Given the description of an element on the screen output the (x, y) to click on. 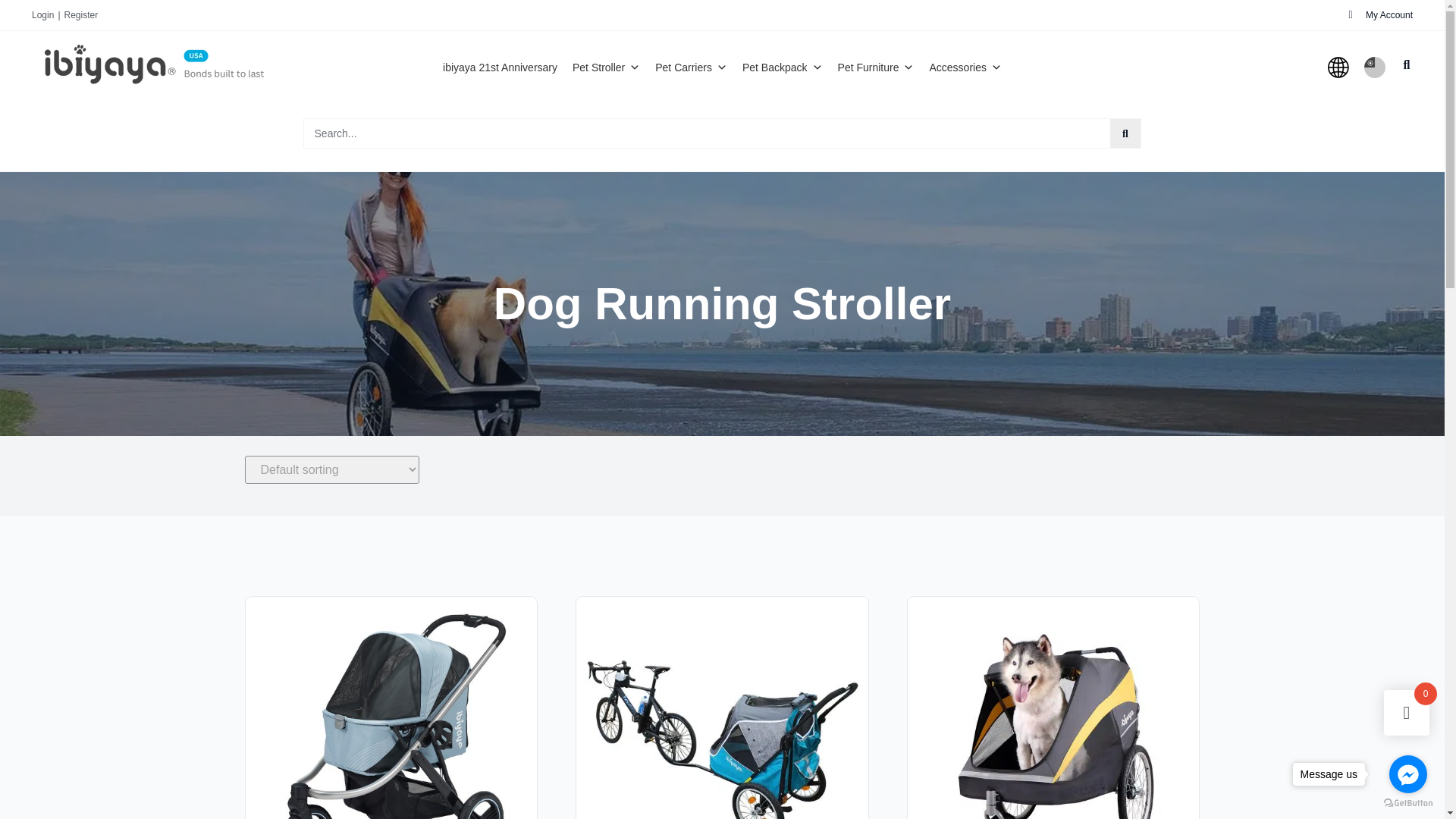
Register (80, 14)
My Account (1380, 14)
Login (42, 14)
ibiyaya 21st Anniversary (499, 66)
Pet Carriers (691, 66)
Pet Stroller (605, 66)
